Given the description of an element on the screen output the (x, y) to click on. 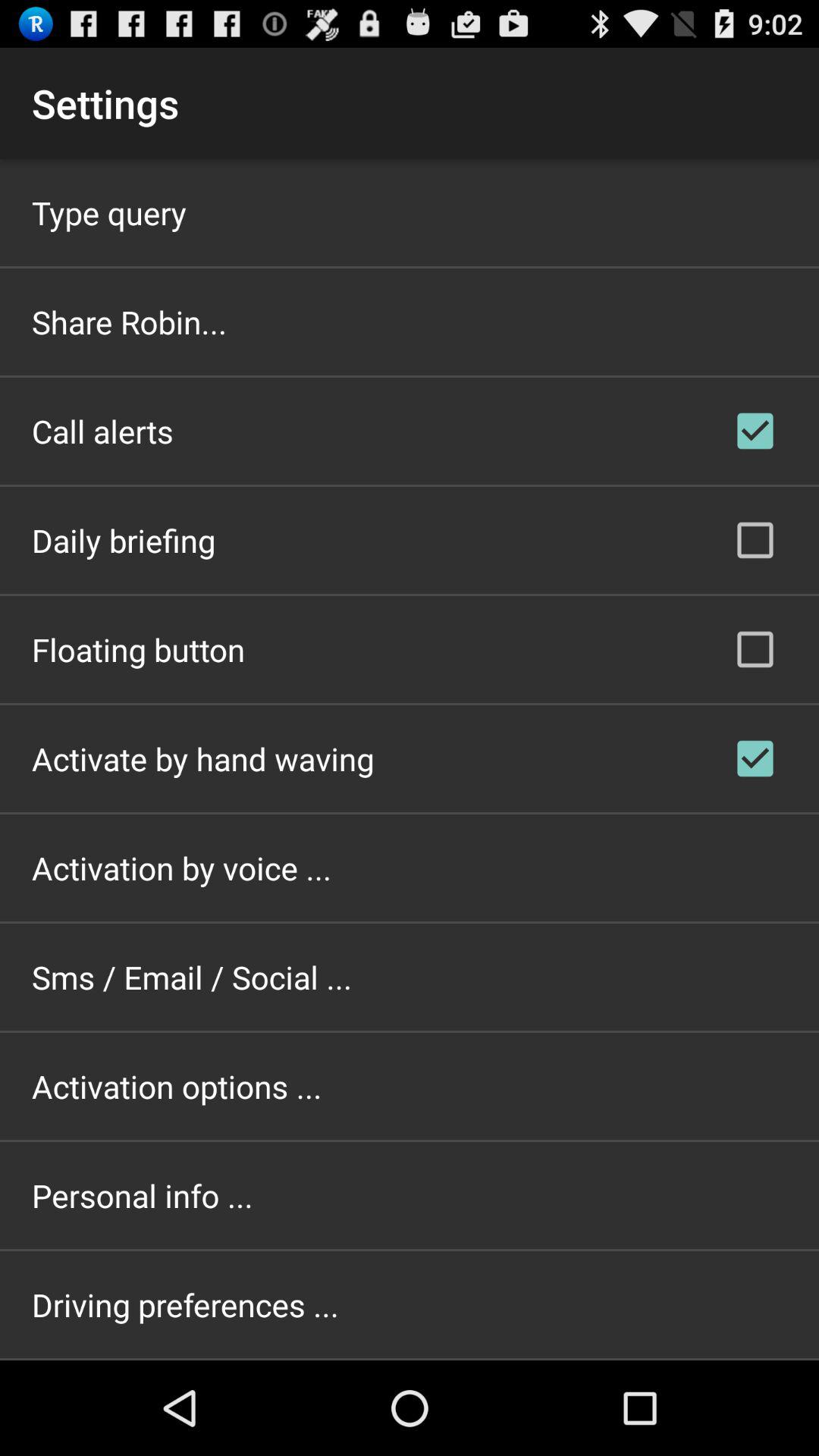
swipe to share robin... app (128, 321)
